Given the description of an element on the screen output the (x, y) to click on. 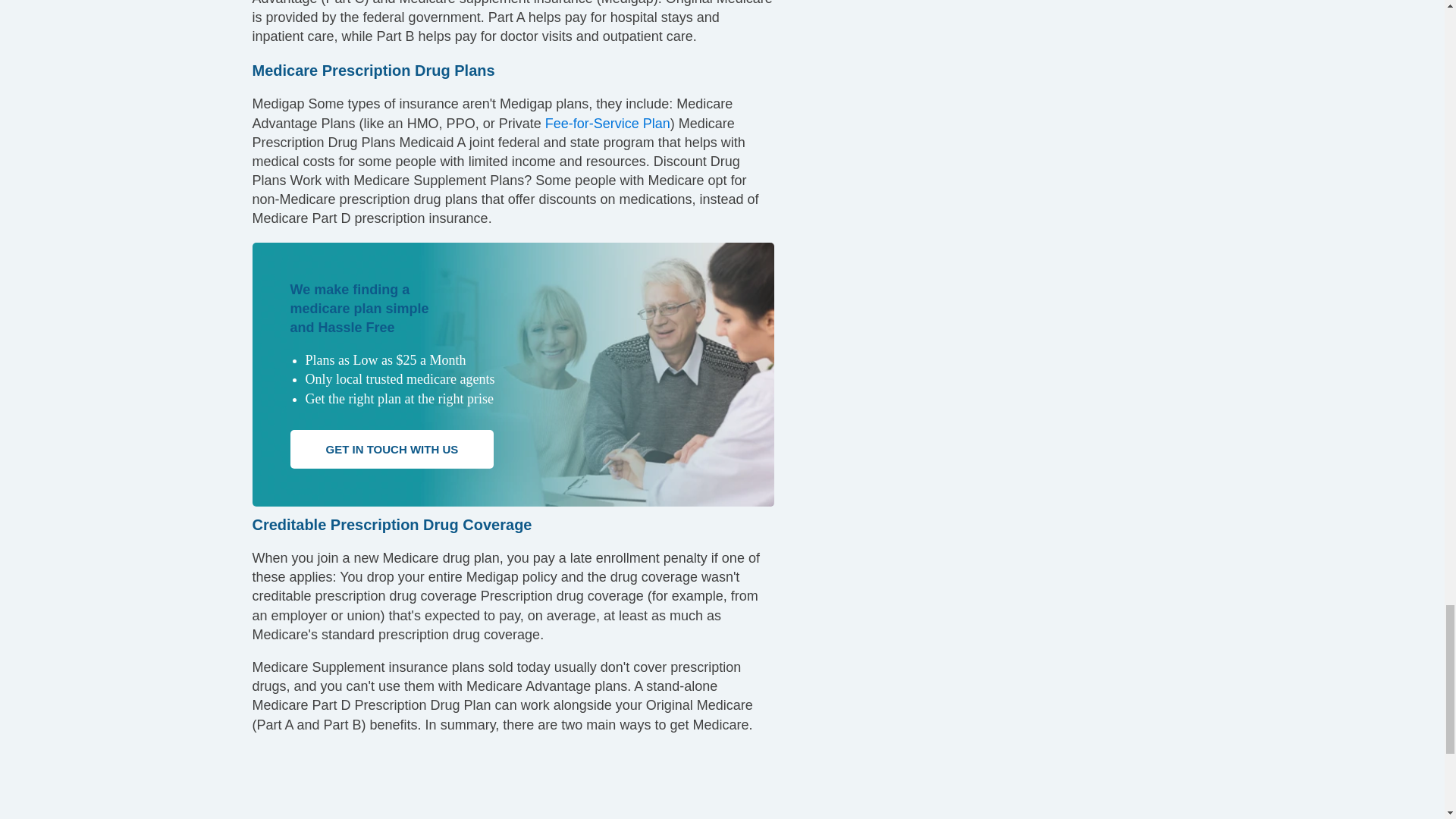
GET IN TOUCH WITH US (391, 448)
Fee-for-Service Plan (606, 123)
GET IN TOUCH WITH US (391, 448)
